Given the description of an element on the screen output the (x, y) to click on. 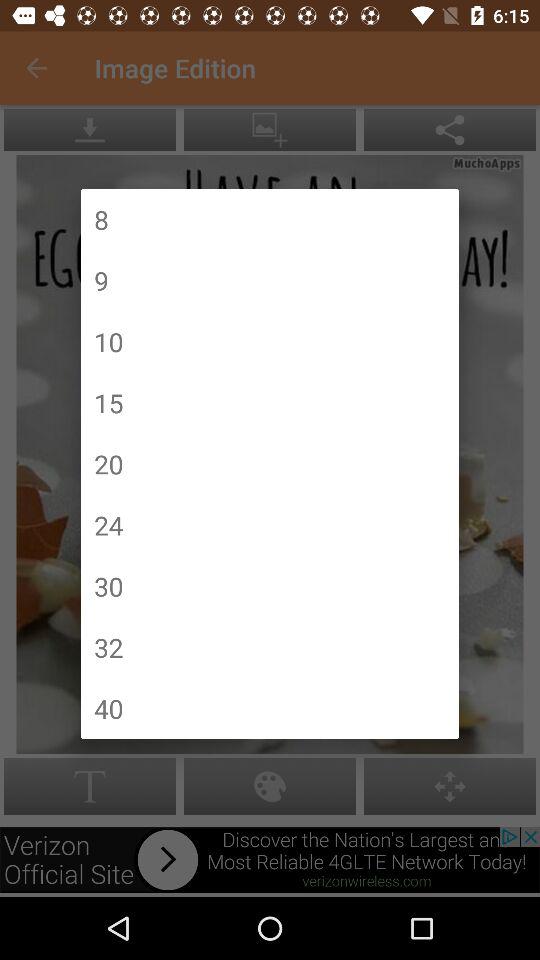
swipe until 30 item (108, 585)
